Given the description of an element on the screen output the (x, y) to click on. 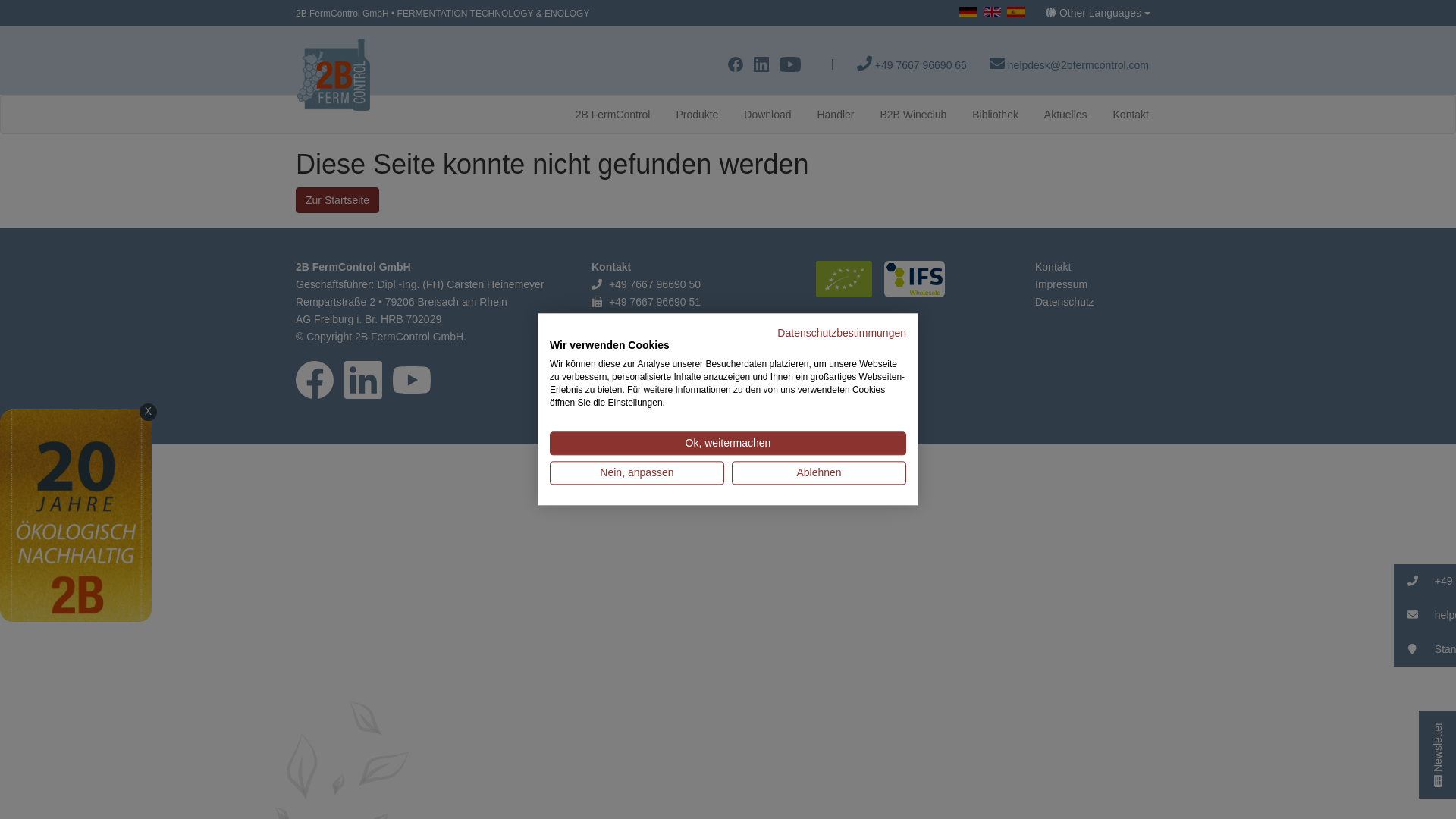
Datenschutzbestimmungen Element type: text (841, 332)
+49 7667 96690 50 Element type: text (654, 284)
2B FermControl GmbH Element type: text (342, 9)
2B FermControl
(aktuell) Element type: text (613, 114)
helpdesk@2bfermcontrol.com Element type: text (1068, 64)
Ok, weitermachen Element type: text (727, 443)
Kontakt Element type: text (1052, 266)
IFS-Zertifikat Element type: hover (918, 282)
Aktuelles Element type: text (1065, 114)
Zur Startseite Element type: text (337, 200)
Nein, anpassen Element type: text (636, 473)
Produkte Element type: text (696, 114)
Kontakt Element type: text (1130, 114)
Datenschutz Element type: text (1064, 301)
Impressum Element type: text (1061, 284)
B2B Wineclub Element type: text (912, 114)
Download Element type: text (767, 114)
helpdesk@2bfermcontrol.com Element type: text (678, 388)
Bibliothek Element type: text (994, 114)
info@2bfermcontrol.com Element type: text (666, 319)
+49 7667 96690 66 Element type: text (911, 64)
Bio-Zertifikat Element type: hover (848, 282)
Ablehnen Element type: text (818, 473)
Other Languages Element type: text (1097, 12)
